Given the description of an element on the screen output the (x, y) to click on. 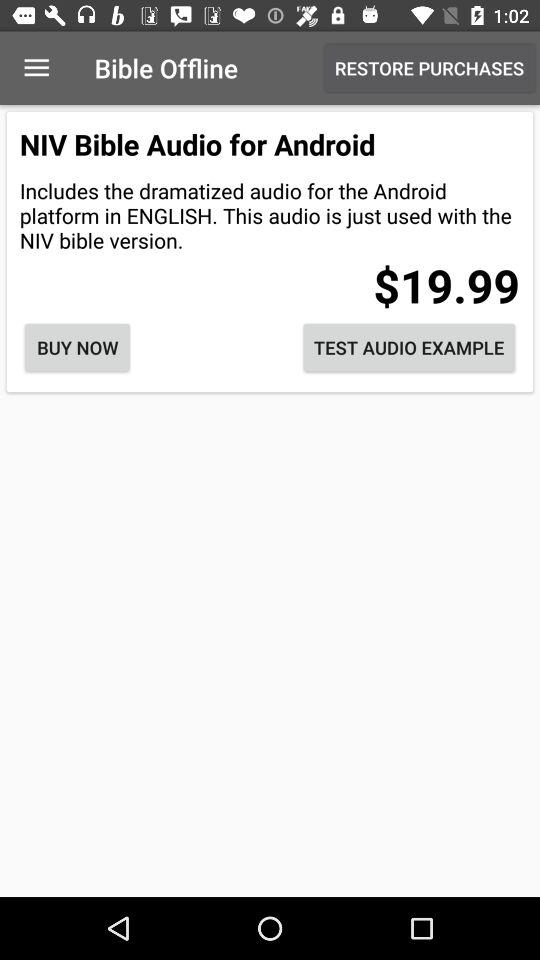
click icon to the right of bible offline icon (429, 67)
